Given the description of an element on the screen output the (x, y) to click on. 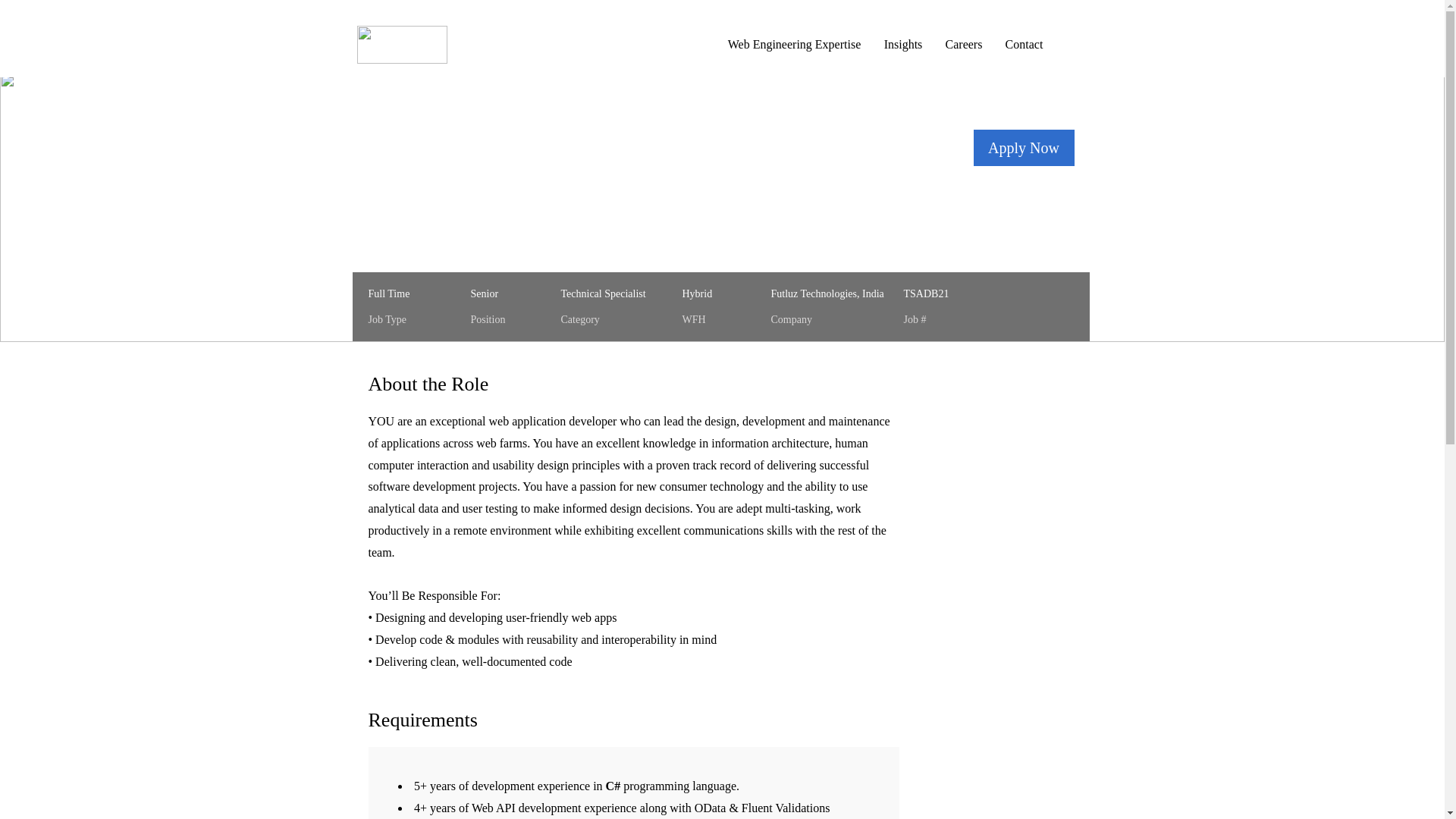
Contact (1023, 44)
Apply Now (1024, 147)
Insights (902, 44)
Web Engineering Expertise (794, 44)
Careers (964, 44)
logo.png (401, 44)
